Given the description of an element on the screen output the (x, y) to click on. 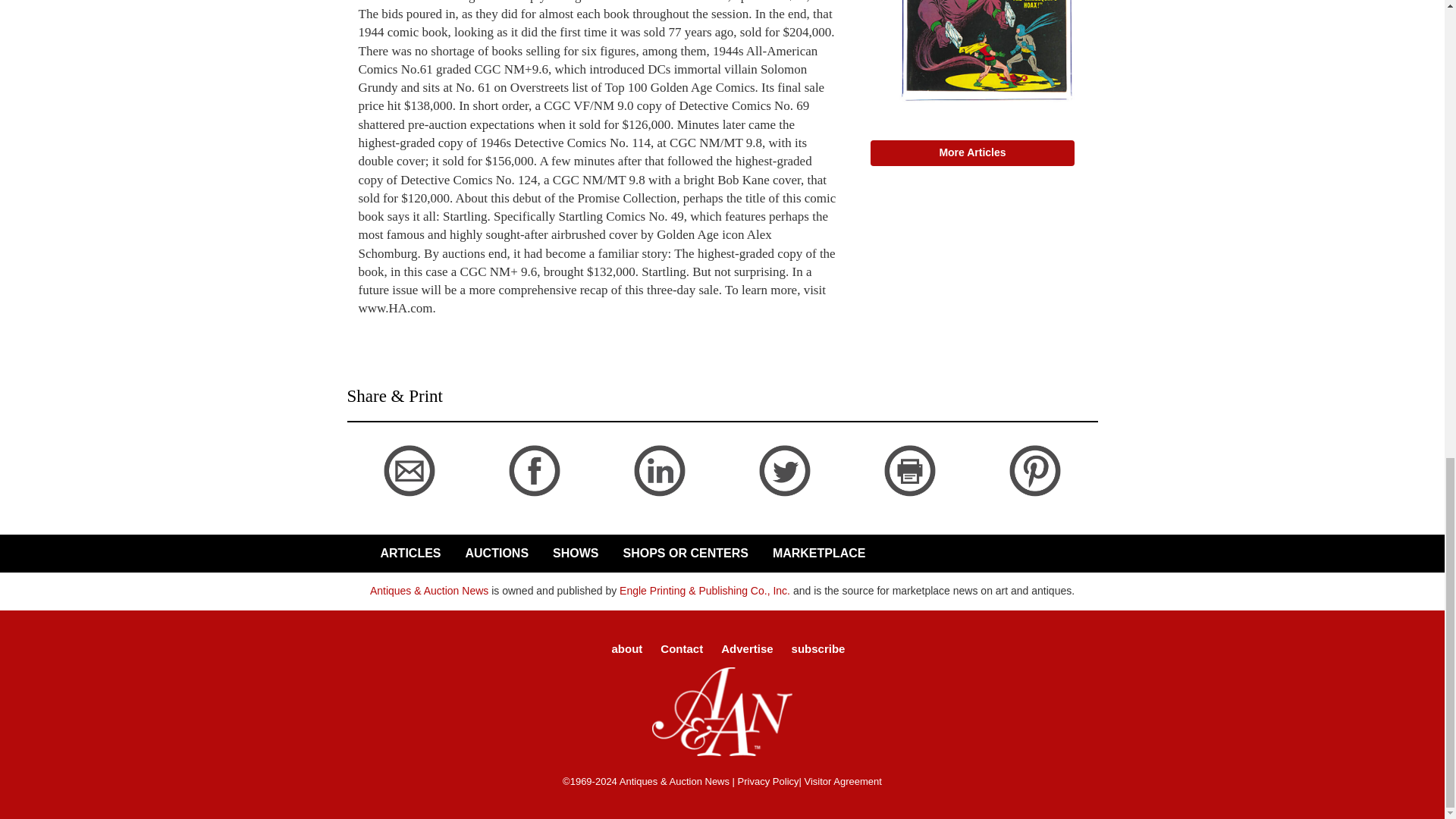
back to articles (393, 325)
SHOWS (572, 553)
AUCTIONS (494, 553)
MARKETPLACE (816, 553)
More Articles (972, 153)
ARTICLES (407, 553)
back to articles (382, 503)
SHOPS OR CENTERS (682, 553)
